Given the description of an element on the screen output the (x, y) to click on. 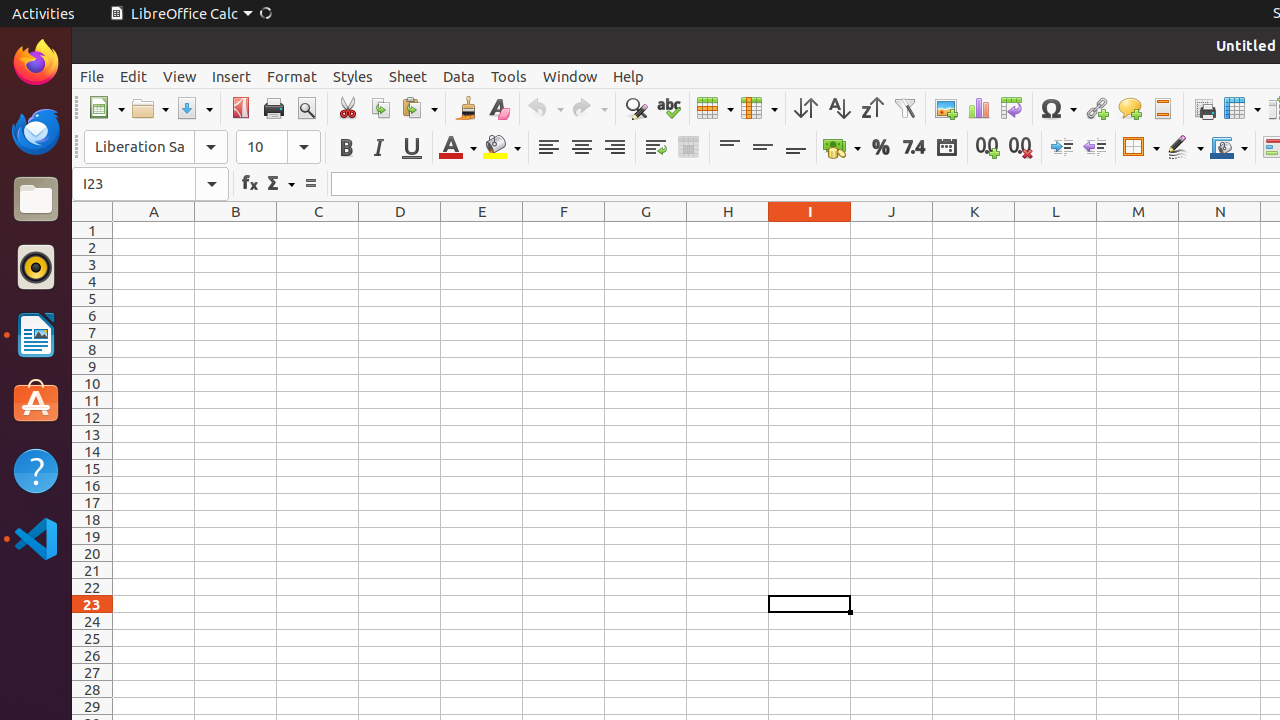
Data Element type: menu (459, 76)
Clone Element type: push-button (465, 108)
Italic Element type: toggle-button (378, 147)
Freeze Rows and Columns Element type: push-button (1242, 108)
File Element type: menu (92, 76)
